Given the description of an element on the screen output the (x, y) to click on. 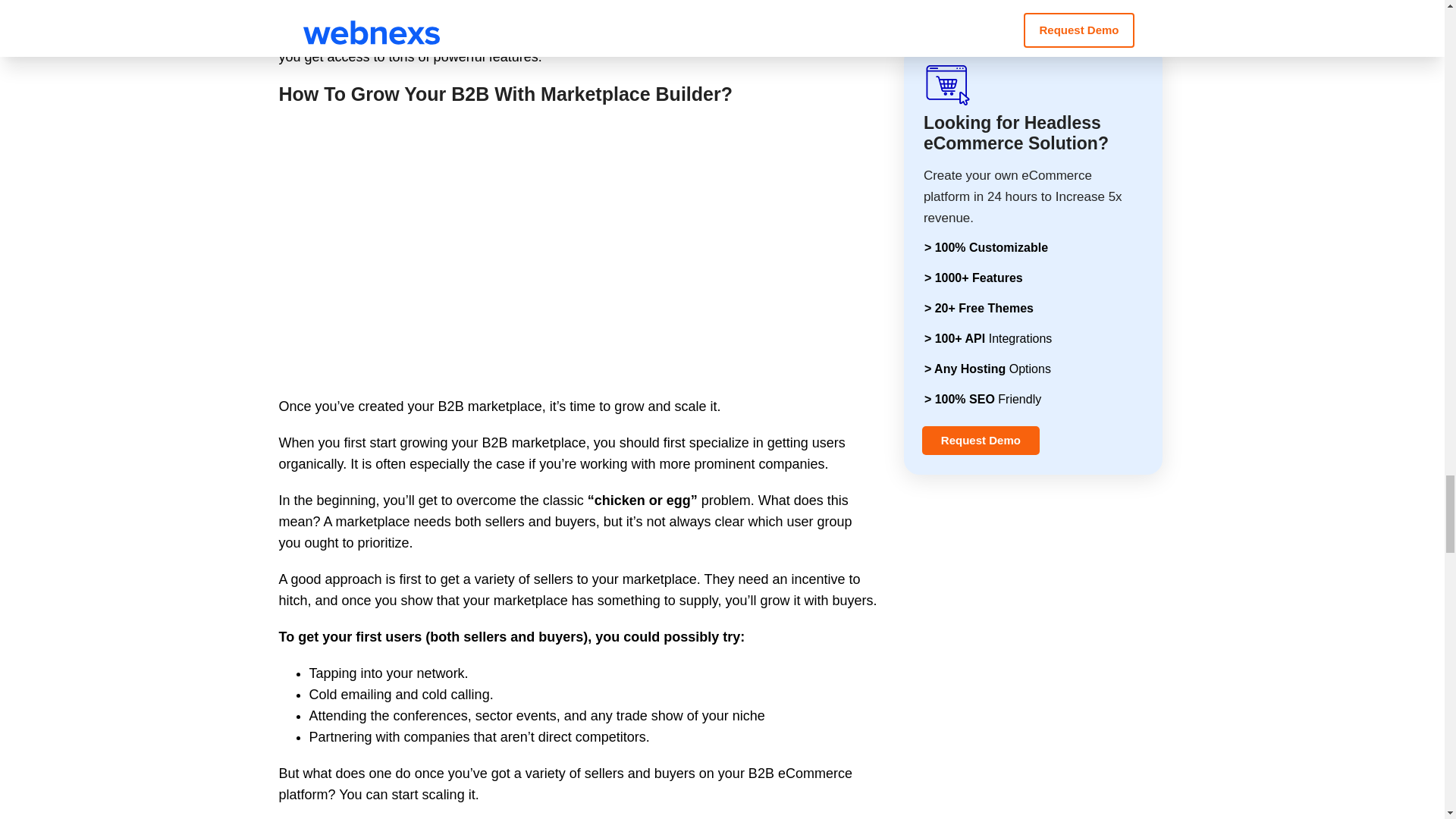
B2B marketplace builder. (522, 35)
